Given the description of an element on the screen output the (x, y) to click on. 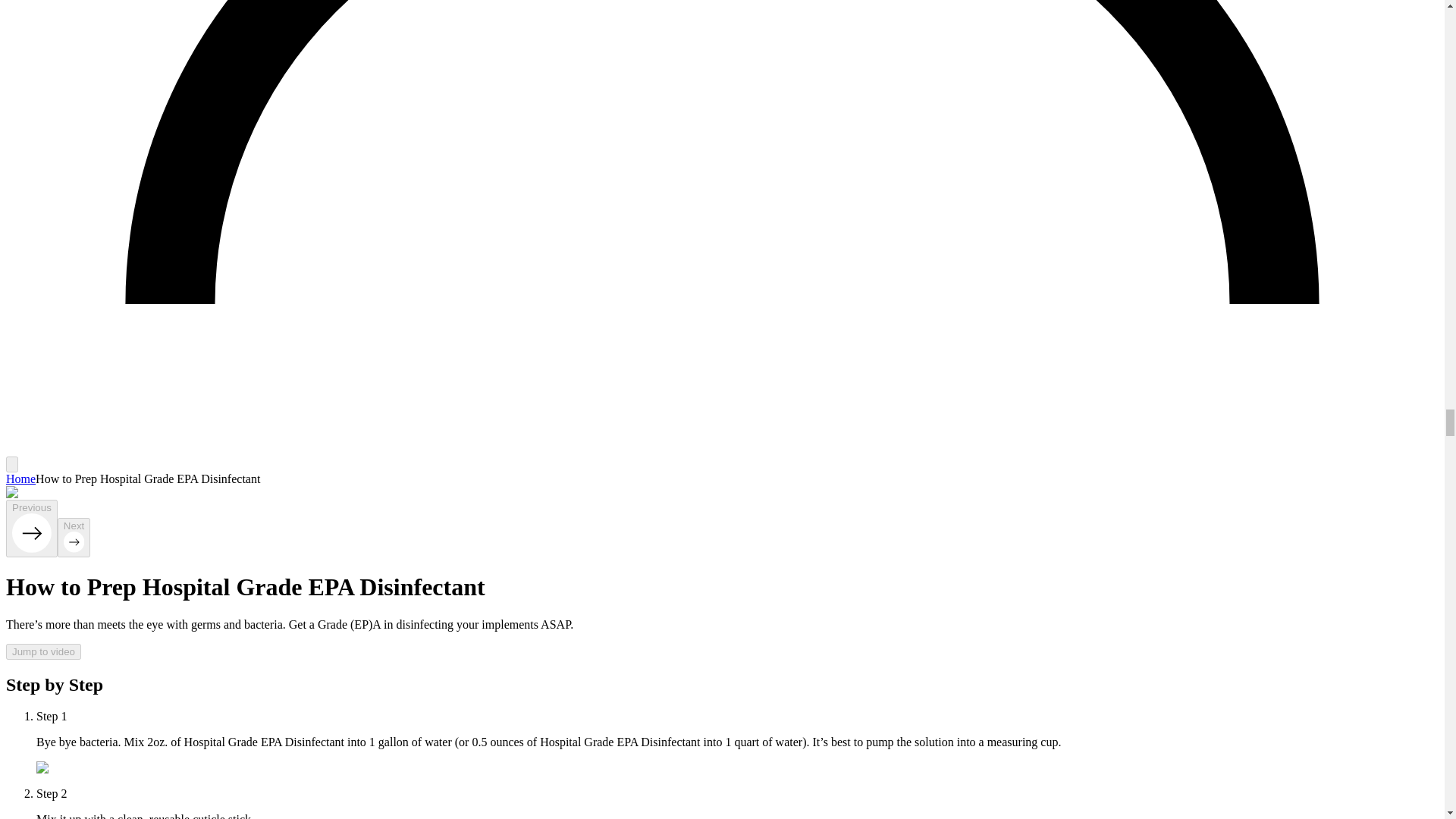
How to Prepare Hospital Grade EPA Disinfectant (162, 767)
Previous (31, 528)
How to Prepare Hospital Grade EPA Disinfectant (131, 492)
